Given the description of an element on the screen output the (x, y) to click on. 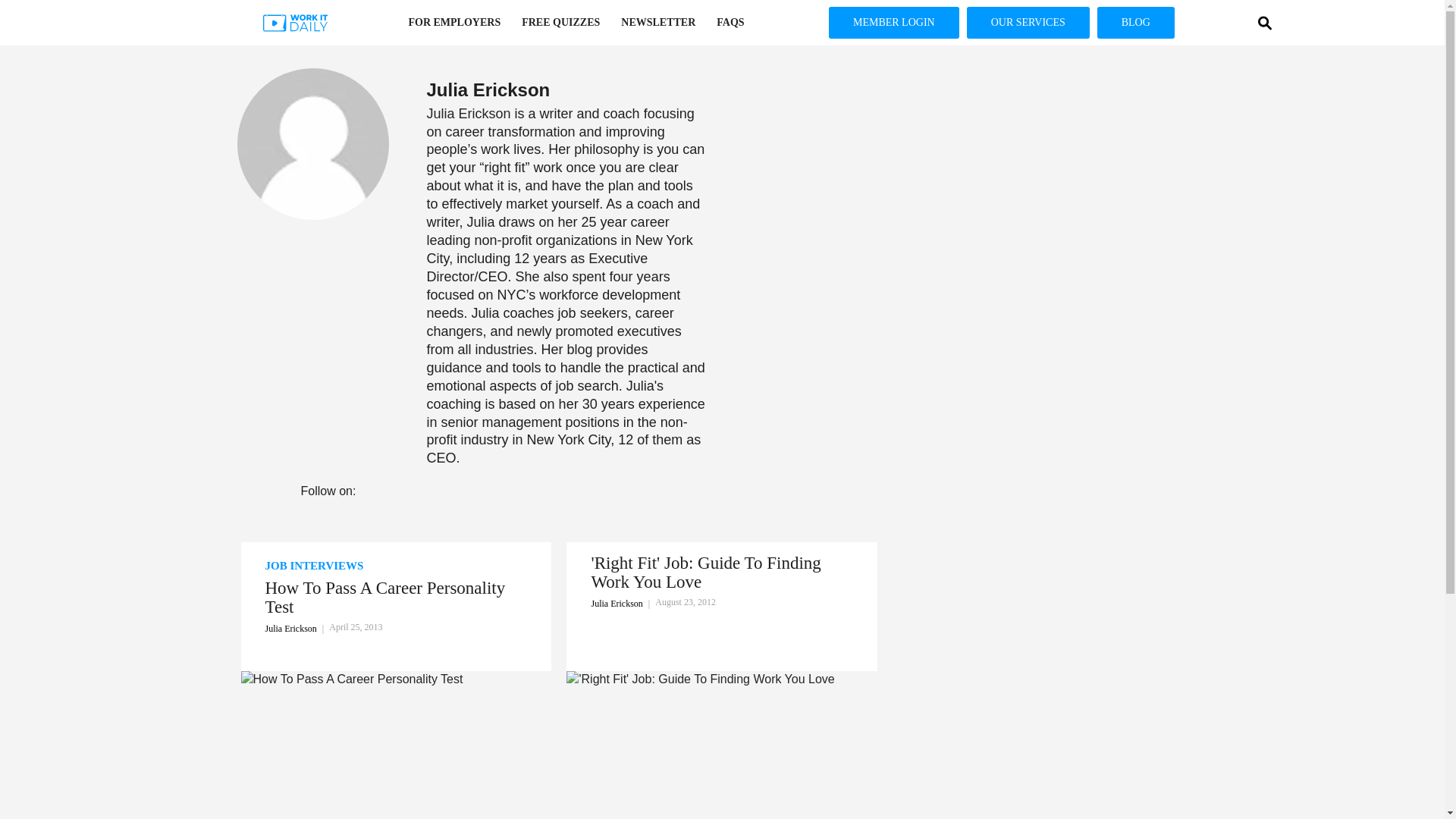
FAQS (730, 22)
JOB INTERVIEWS (395, 565)
MEMBER LOGIN (893, 22)
'Right Fit' Job: Guide To Finding Work You Love (722, 572)
NEWSLETTER (658, 22)
Julia Erickson (297, 628)
How To Pass A Career Personality Test (395, 597)
BLOG (1135, 22)
Julia Erickson (468, 113)
FREE QUIZZES (560, 22)
